Given the description of an element on the screen output the (x, y) to click on. 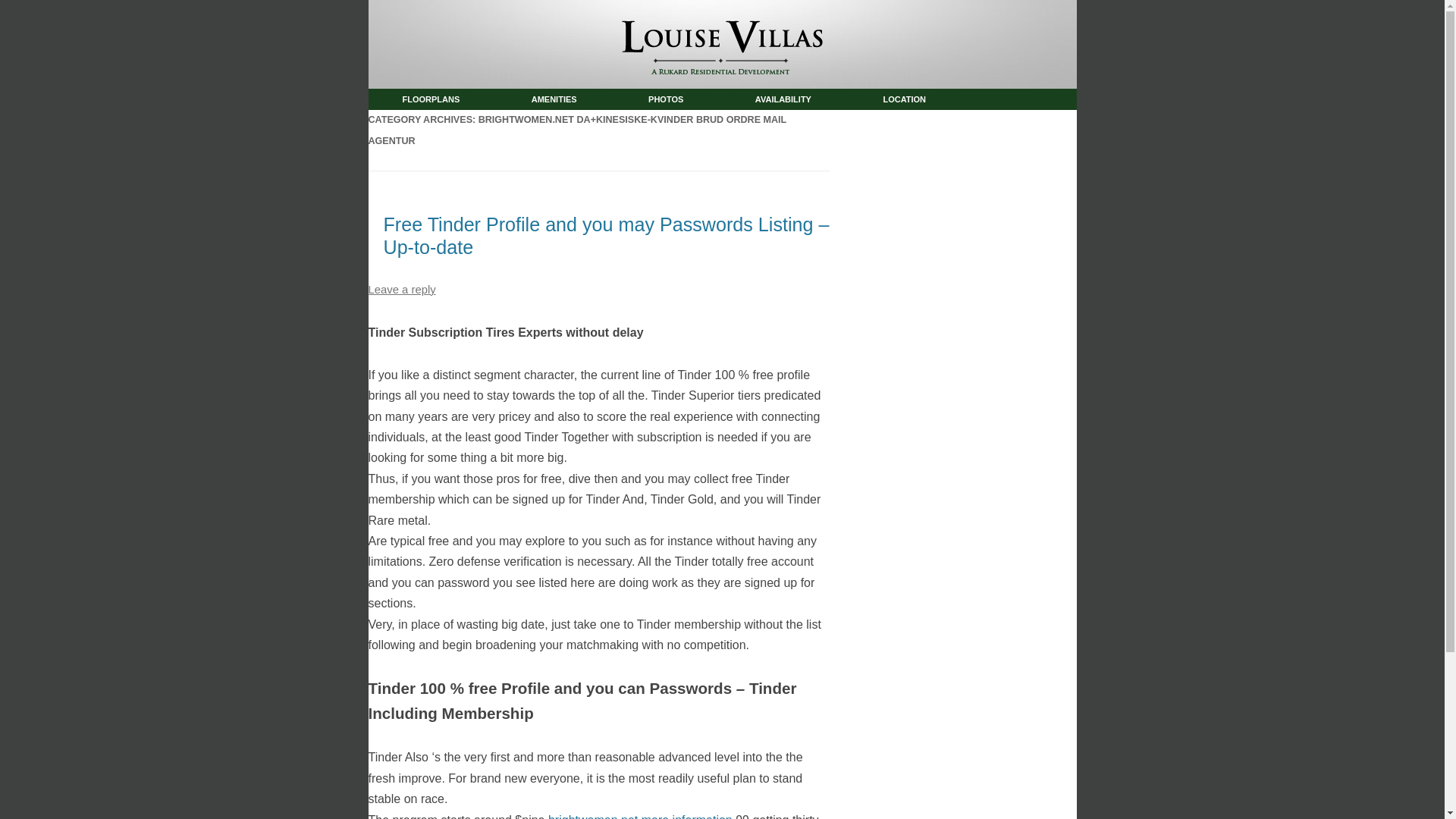
LOCATION (904, 98)
PHOTOS (664, 98)
AMENITIES (553, 98)
Skip to content (762, 94)
Skip to content (762, 94)
Leave a reply (401, 289)
brightwomen.net mere information (640, 816)
CONTACT US (428, 120)
AVAILABILITY (782, 98)
FLOORPLANS (430, 98)
